Given the description of an element on the screen output the (x, y) to click on. 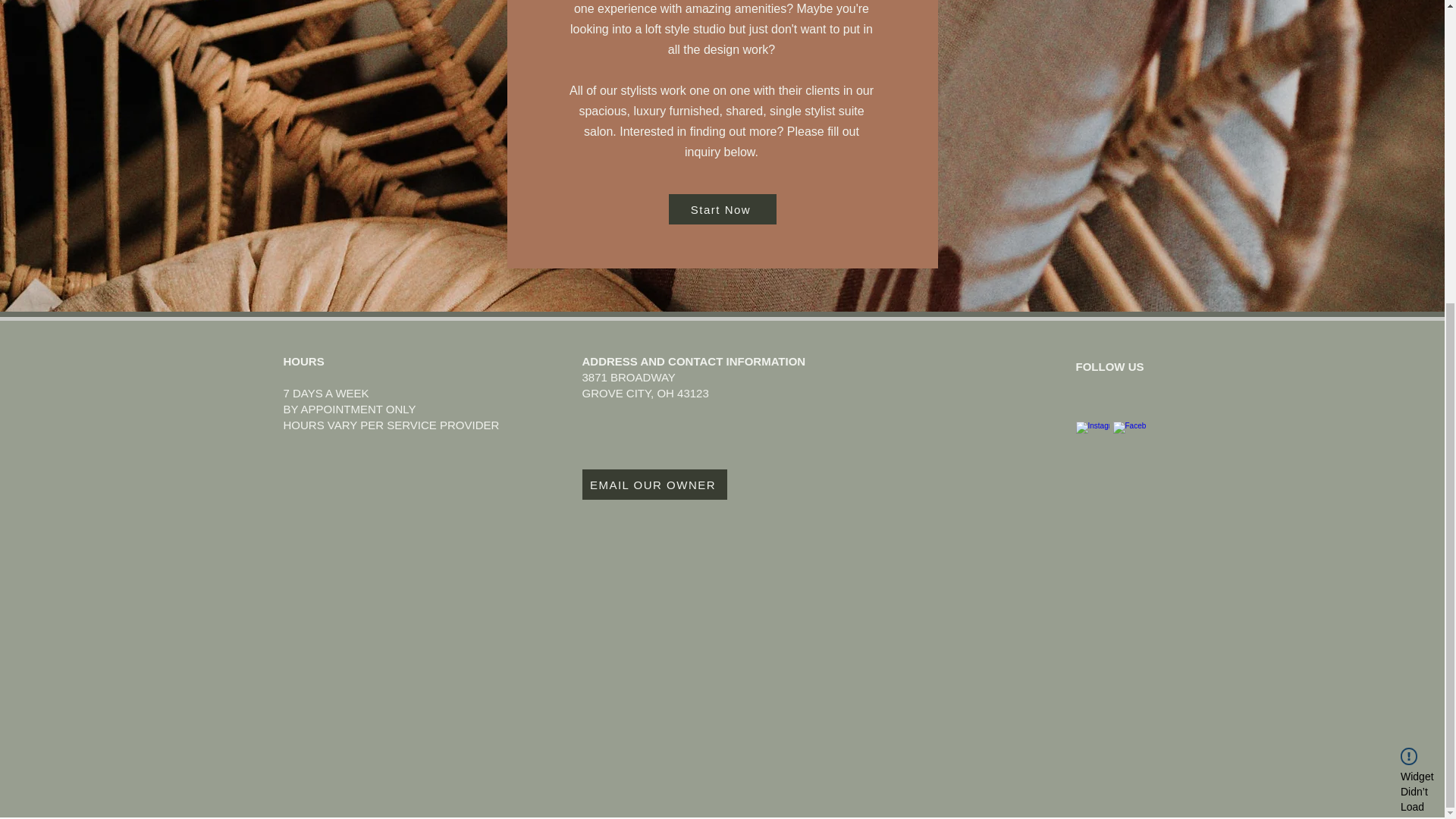
Start Now (722, 209)
EMAIL OUR OWNER (654, 484)
